Given the description of an element on the screen output the (x, y) to click on. 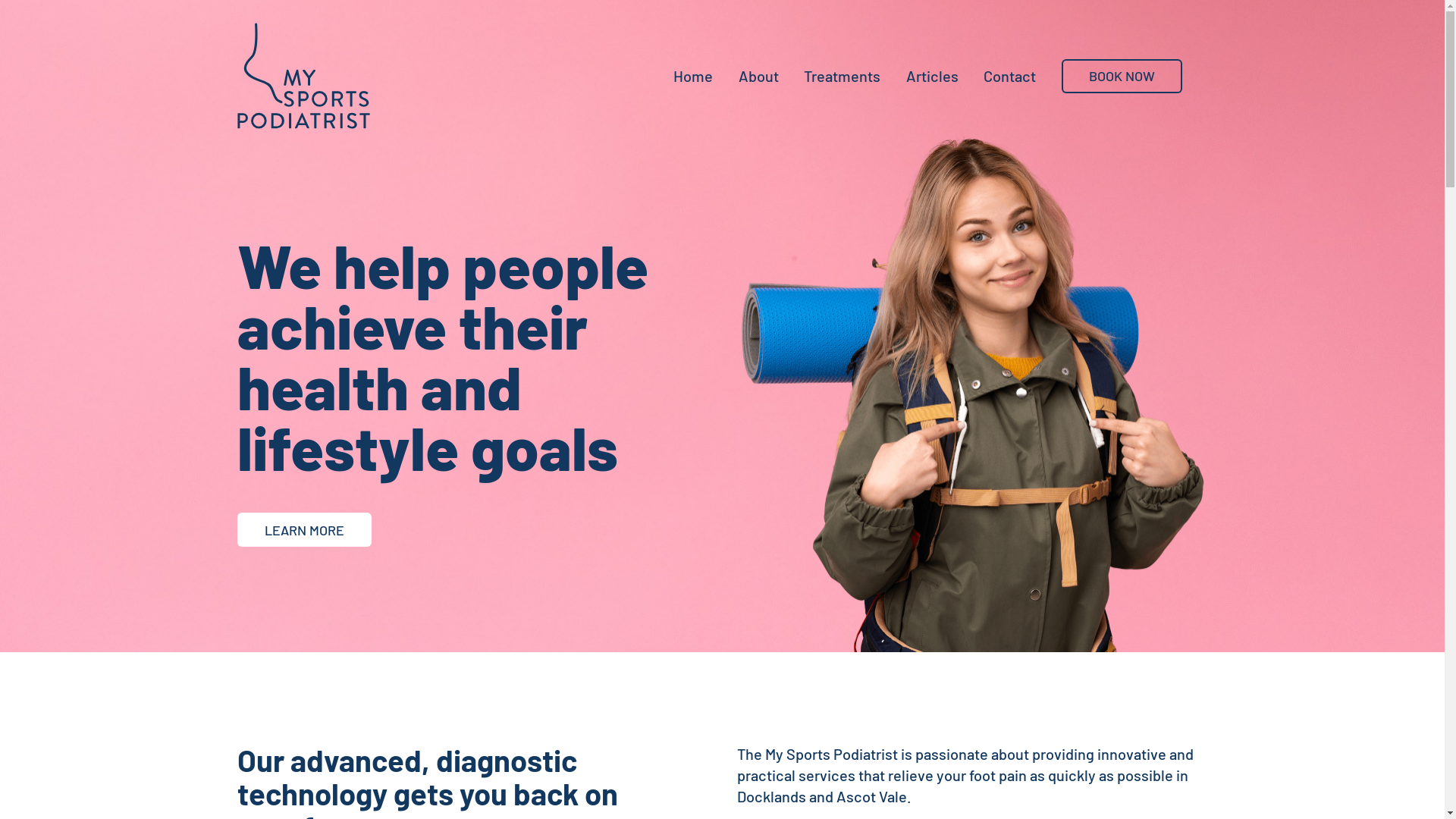
Articles Element type: text (932, 75)
Home Element type: text (692, 75)
Contact Element type: text (1338, 337)
Contact Element type: text (1009, 75)
About Element type: text (758, 75)
About Element type: text (1338, 225)
BOOK NOW Element type: text (1121, 76)
LEARN MORE Element type: text (303, 529)
Privacy Element type: text (1390, 759)
Home Element type: text (1338, 188)
Articles Element type: text (1338, 300)
Treatments Element type: text (841, 75)
Treatments Element type: text (1338, 262)
